Given the description of an element on the screen output the (x, y) to click on. 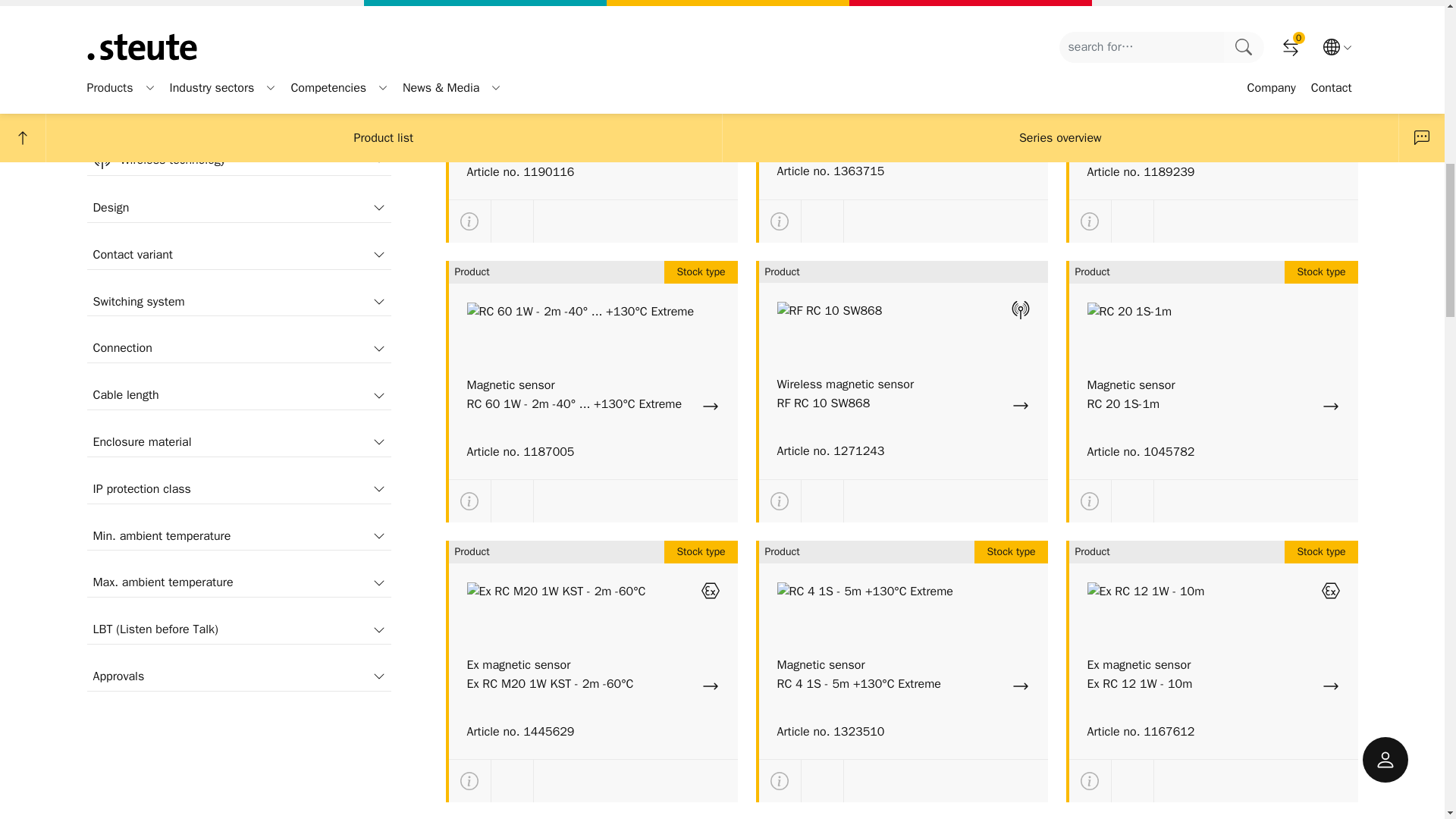
stockType: (100, 33)
stockType:1 (100, 62)
